Given the description of an element on the screen output the (x, y) to click on. 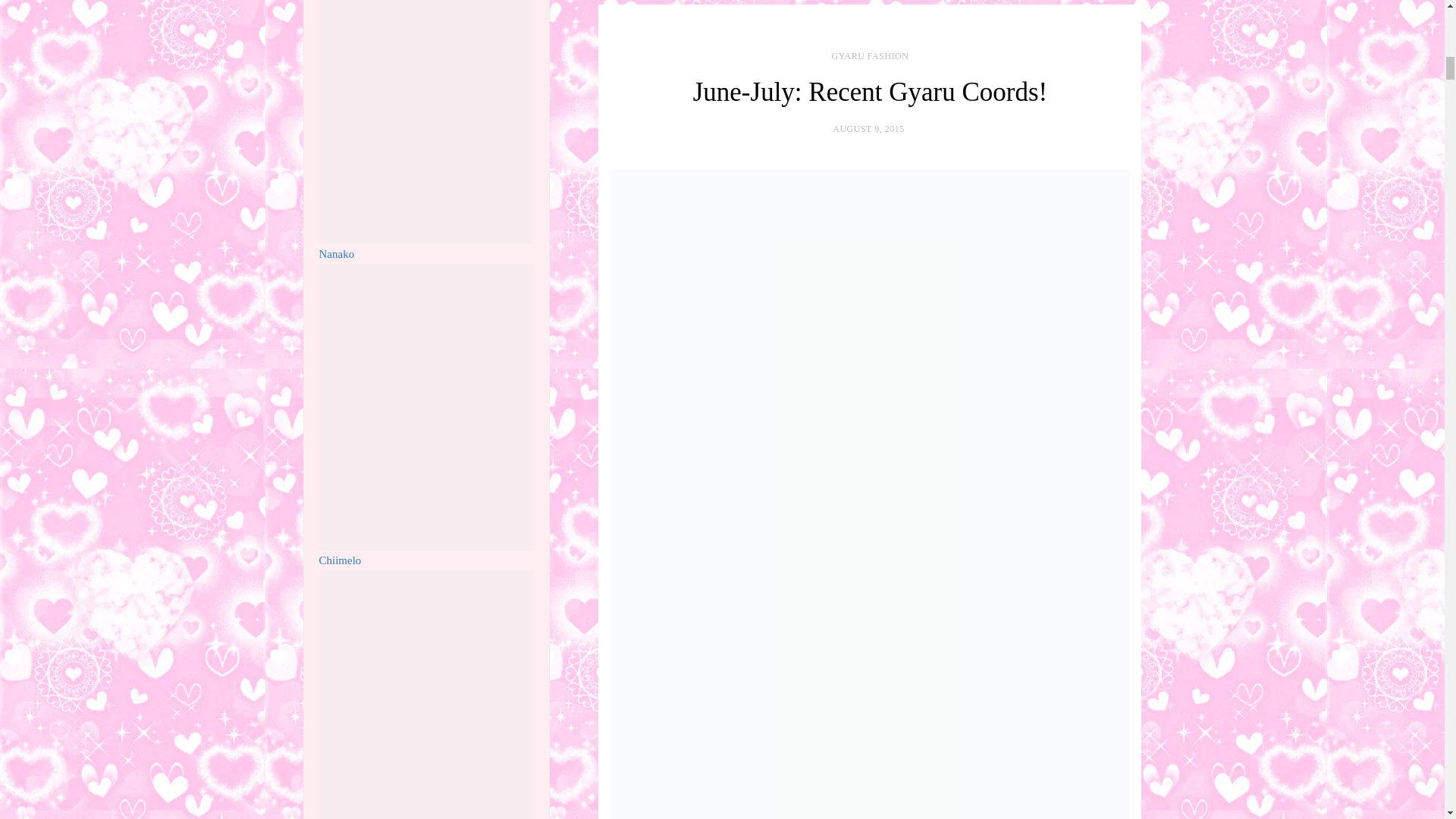
June-July: Recent Gyaru Coords! (870, 91)
